Given the description of an element on the screen output the (x, y) to click on. 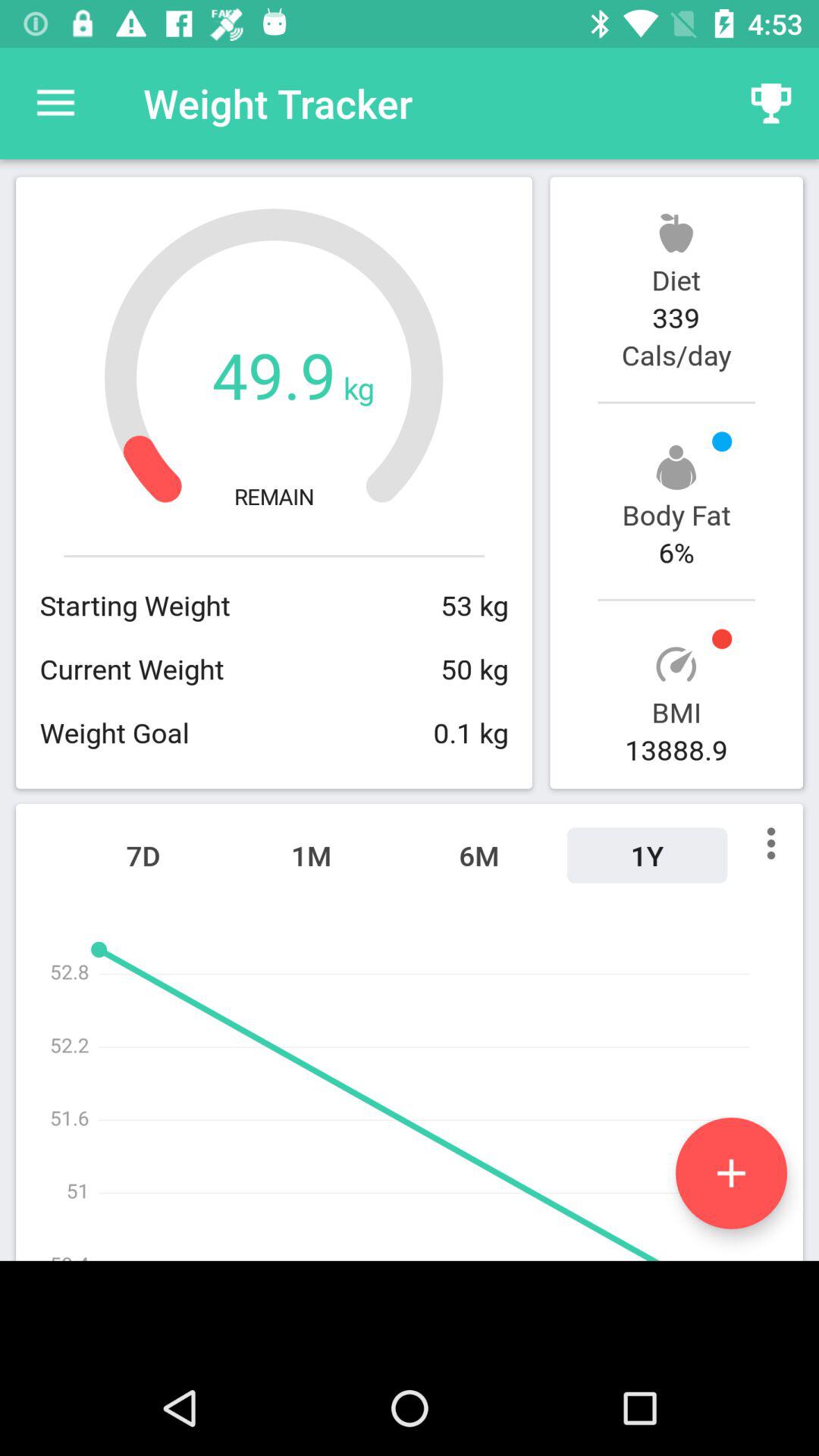
scroll until the 6m icon (479, 855)
